Given the description of an element on the screen output the (x, y) to click on. 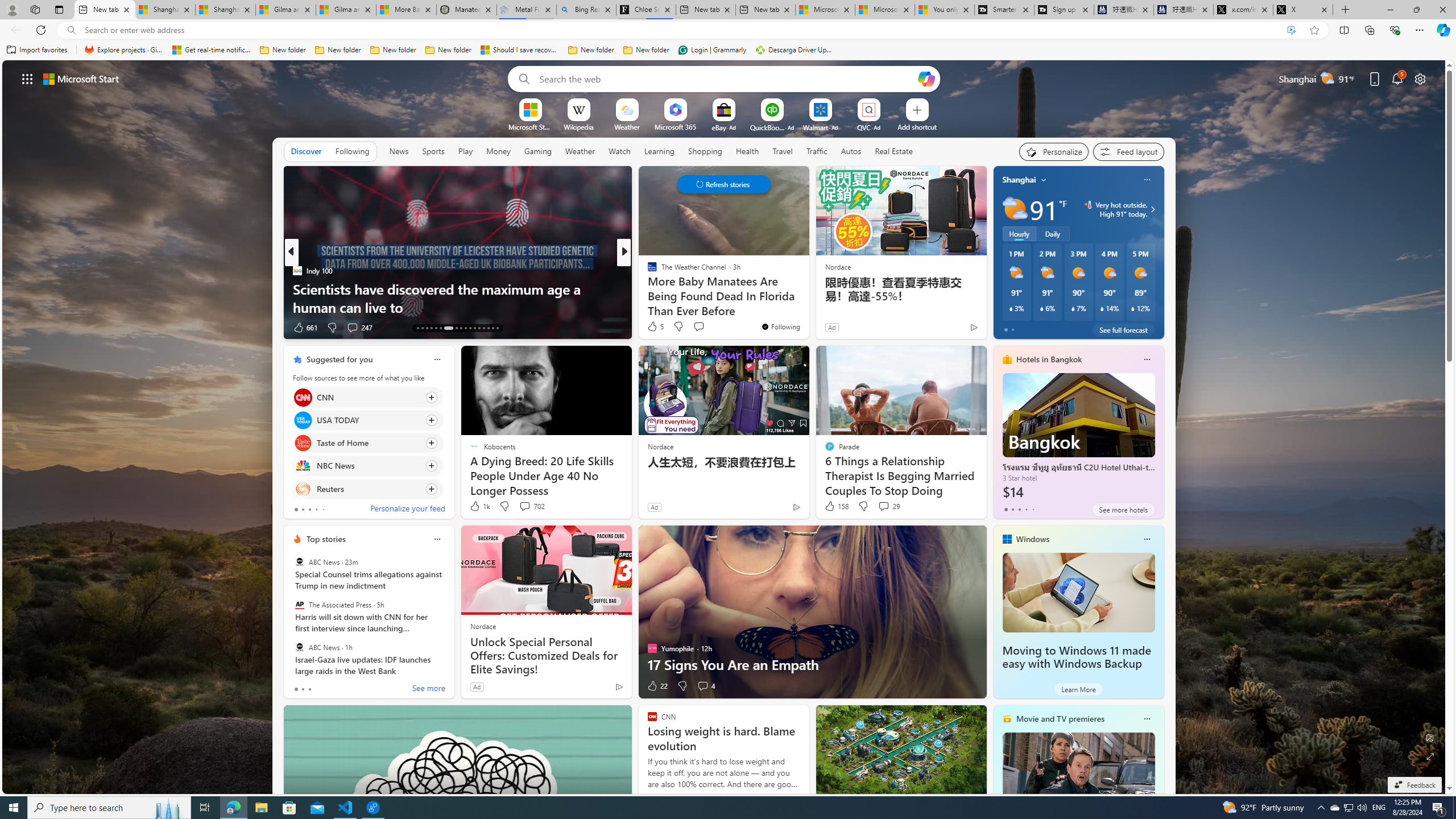
View comments 7 Comment (702, 327)
Click to follow source CNN (367, 397)
To get missing image descriptions, open the context menu. (529, 109)
Partly sunny (1014, 208)
Enhance video (1291, 29)
My location (1043, 179)
Microsoft start (81, 78)
12 YouTube Features You'll Kick Yourself For Not Using (807, 298)
AutomationID: tab-14 (422, 328)
Autos (850, 151)
Climate Crisis 247 (647, 270)
Real Estate (893, 151)
